Given the description of an element on the screen output the (x, y) to click on. 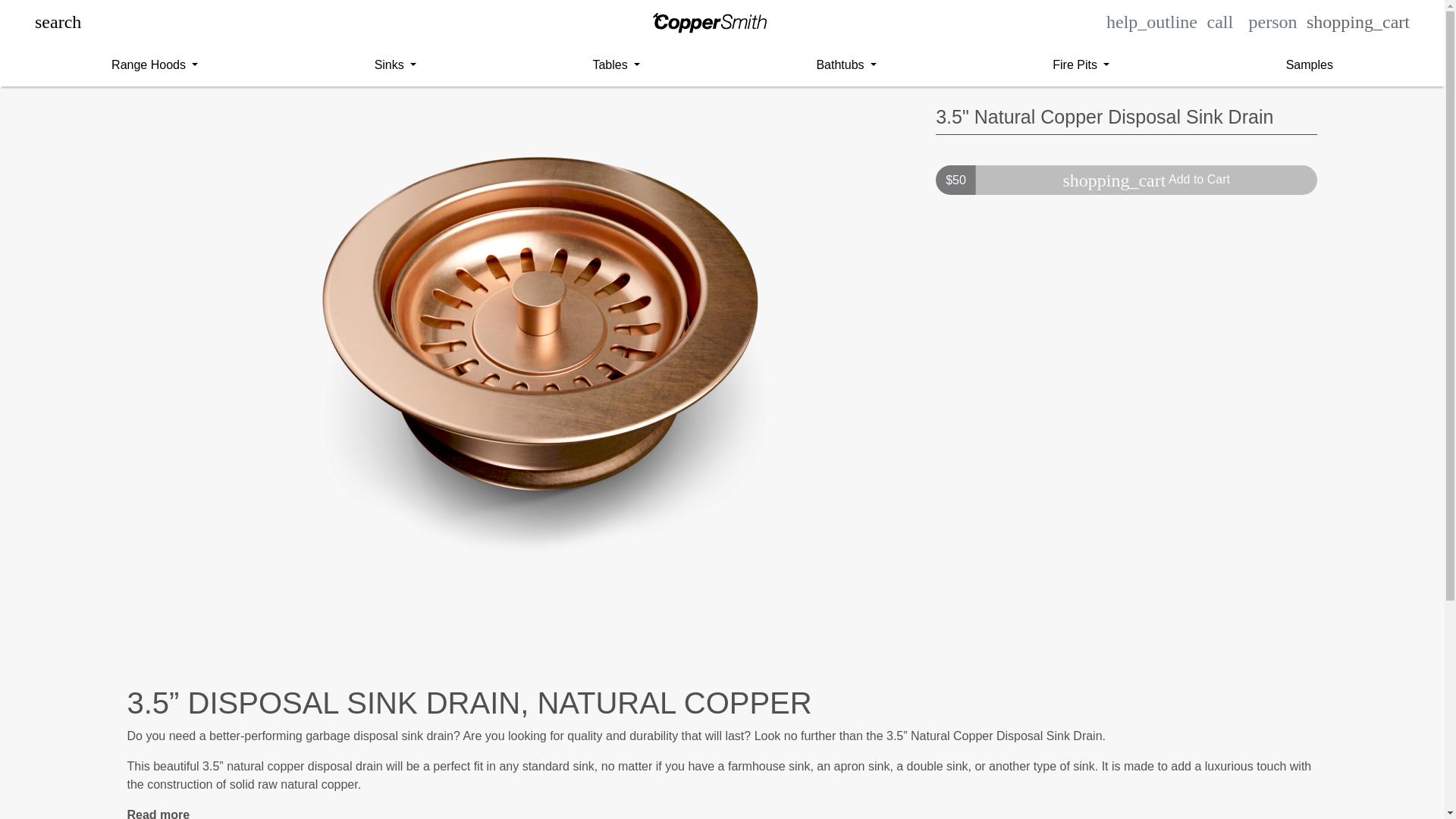
Range Hoods (154, 64)
Sinks (395, 64)
person (1273, 21)
Coppersmith (709, 22)
call (1220, 21)
Add to Cart (1146, 179)
search (57, 21)
